Given the description of an element on the screen output the (x, y) to click on. 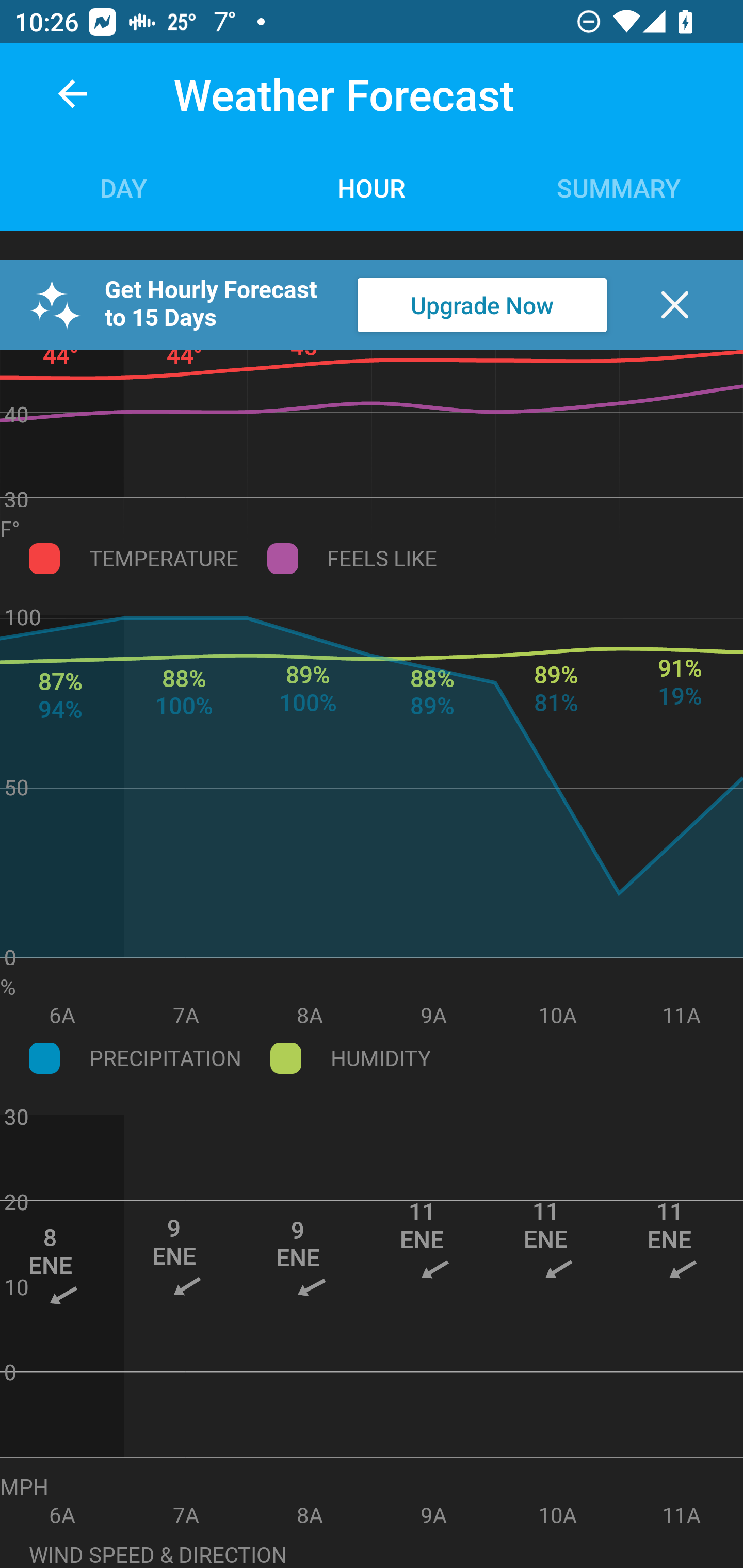
back (71, 93)
Day Tab DAY (123, 187)
Summary Tab SUMMARY (619, 187)
Upgrade Now (482, 304)
